Given the description of an element on the screen output the (x, y) to click on. 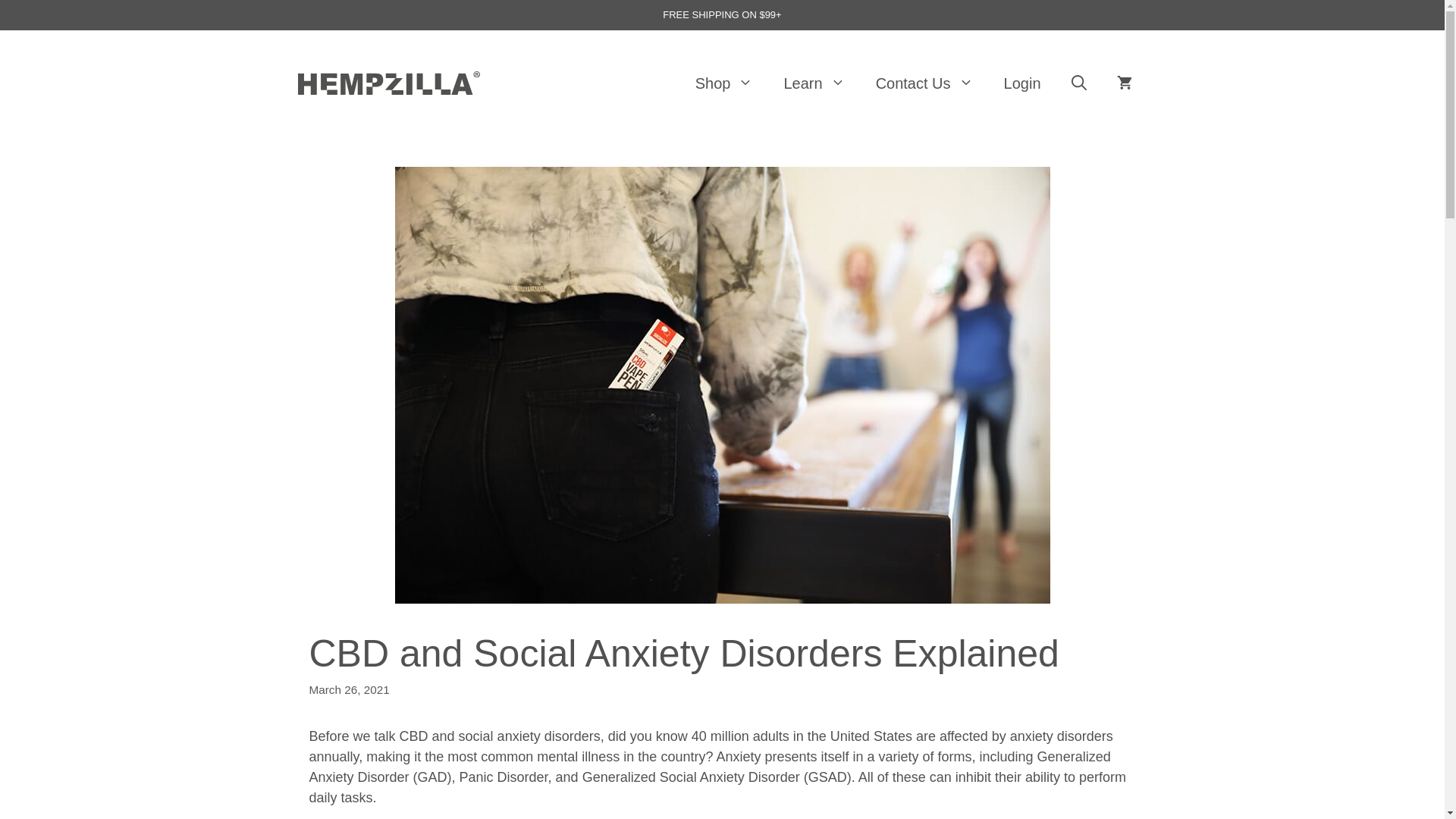
Contact Us (924, 83)
Login (1022, 83)
Shop (723, 83)
Learn (814, 83)
View your shopping cart (1123, 83)
